Given the description of an element on the screen output the (x, y) to click on. 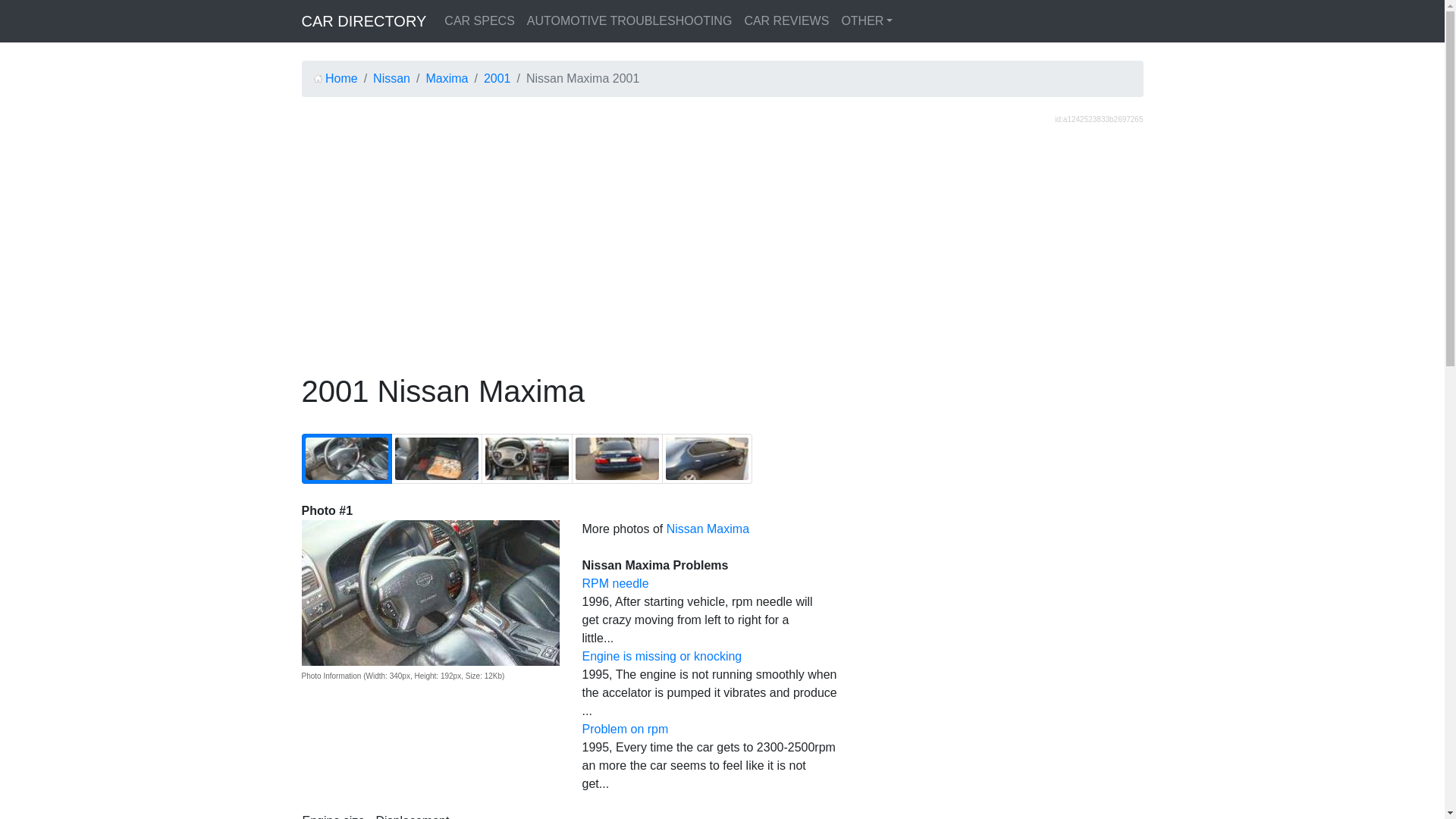
AUTOMOTIVE TROUBLESHOOTING (629, 20)
Home (336, 78)
Nissan Maxima (707, 528)
Maxima (446, 78)
Problem on rpm (625, 728)
Nissan (391, 78)
OTHER (866, 20)
2001 (497, 78)
Engine is missing or knocking (662, 656)
RPM needle (615, 583)
CAR REVIEWS (786, 20)
CAR DIRECTORY (363, 20)
CAR SPECS (478, 20)
